Given the description of an element on the screen output the (x, y) to click on. 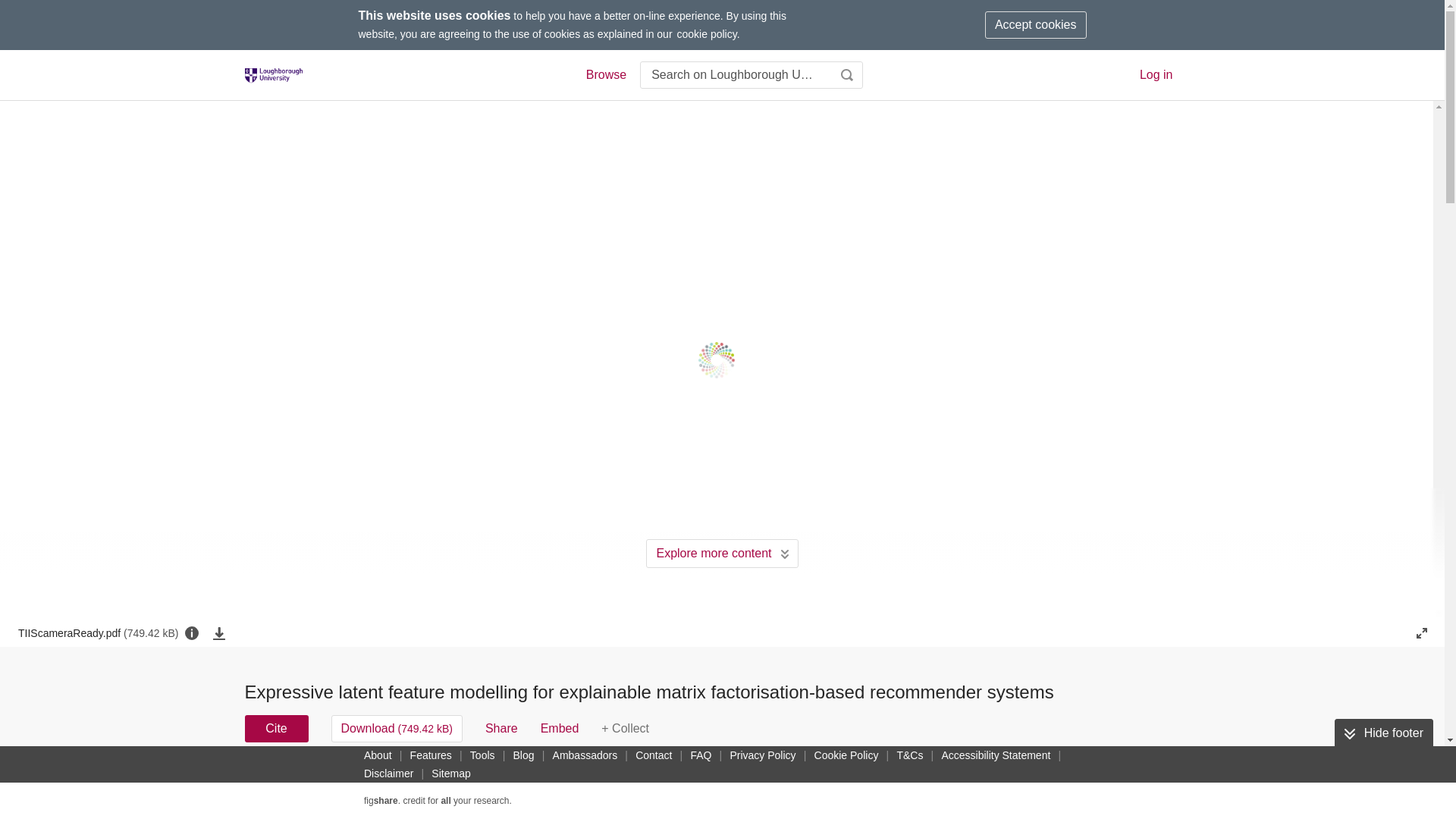
Explore more content (721, 553)
TIIScameraReady.pdf (97, 633)
Hide footer (1383, 733)
you need to log in first (625, 728)
Browse (605, 75)
Accept cookies (1035, 24)
About (377, 755)
Share (501, 728)
Log in (1156, 74)
USAGE METRICS (976, 782)
Embed (559, 728)
Syeda Fatima (719, 778)
cookie policy (706, 33)
Cite (275, 728)
